Given the description of an element on the screen output the (x, y) to click on. 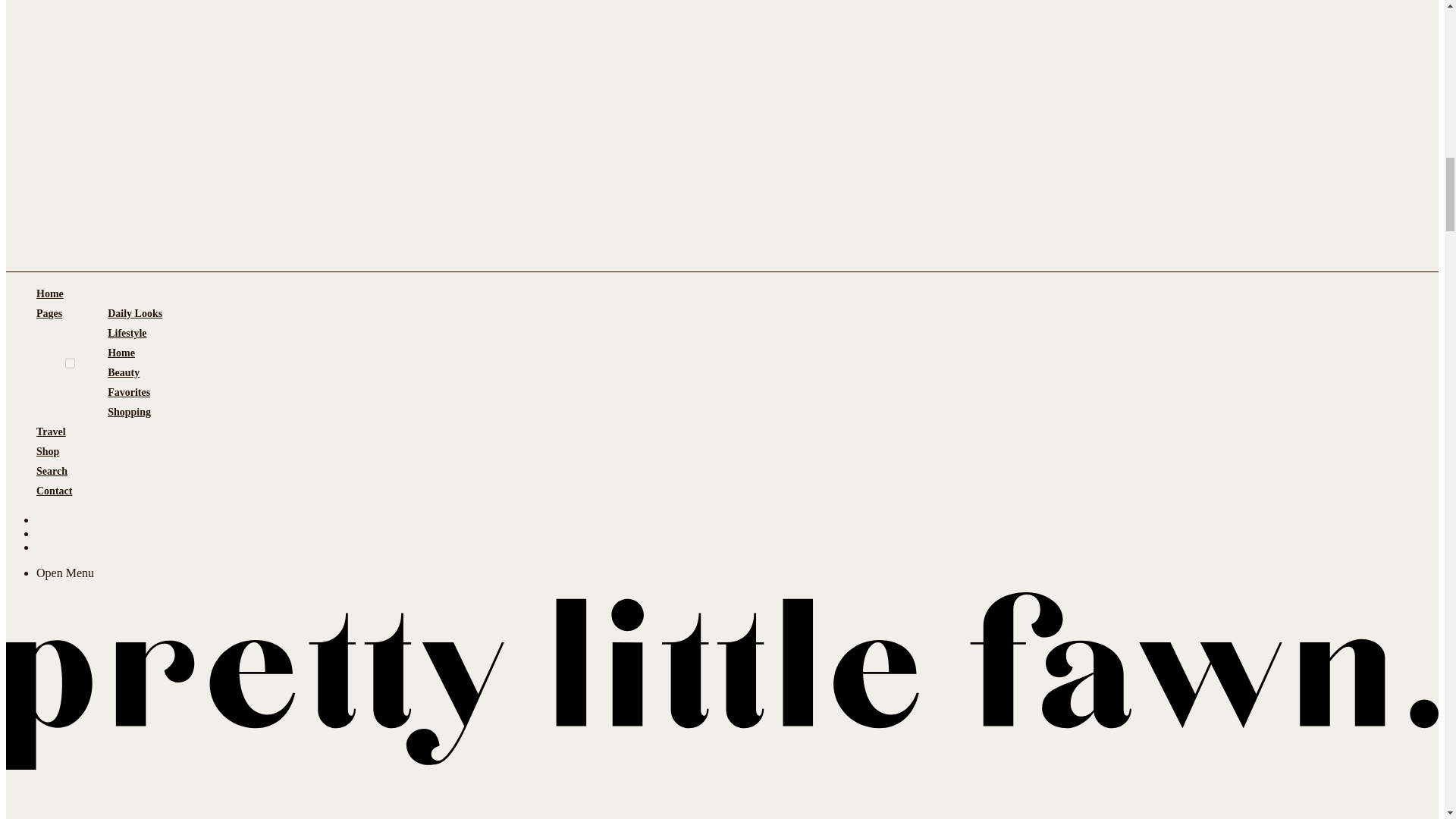
Travel (50, 432)
Favorites (128, 392)
Contact (53, 491)
Beauty (123, 373)
Shop (47, 451)
Search (51, 471)
Lifestyle (127, 333)
Daily Looks (134, 313)
Home (121, 353)
Home (50, 293)
Shopping (129, 412)
